Given the description of an element on the screen output the (x, y) to click on. 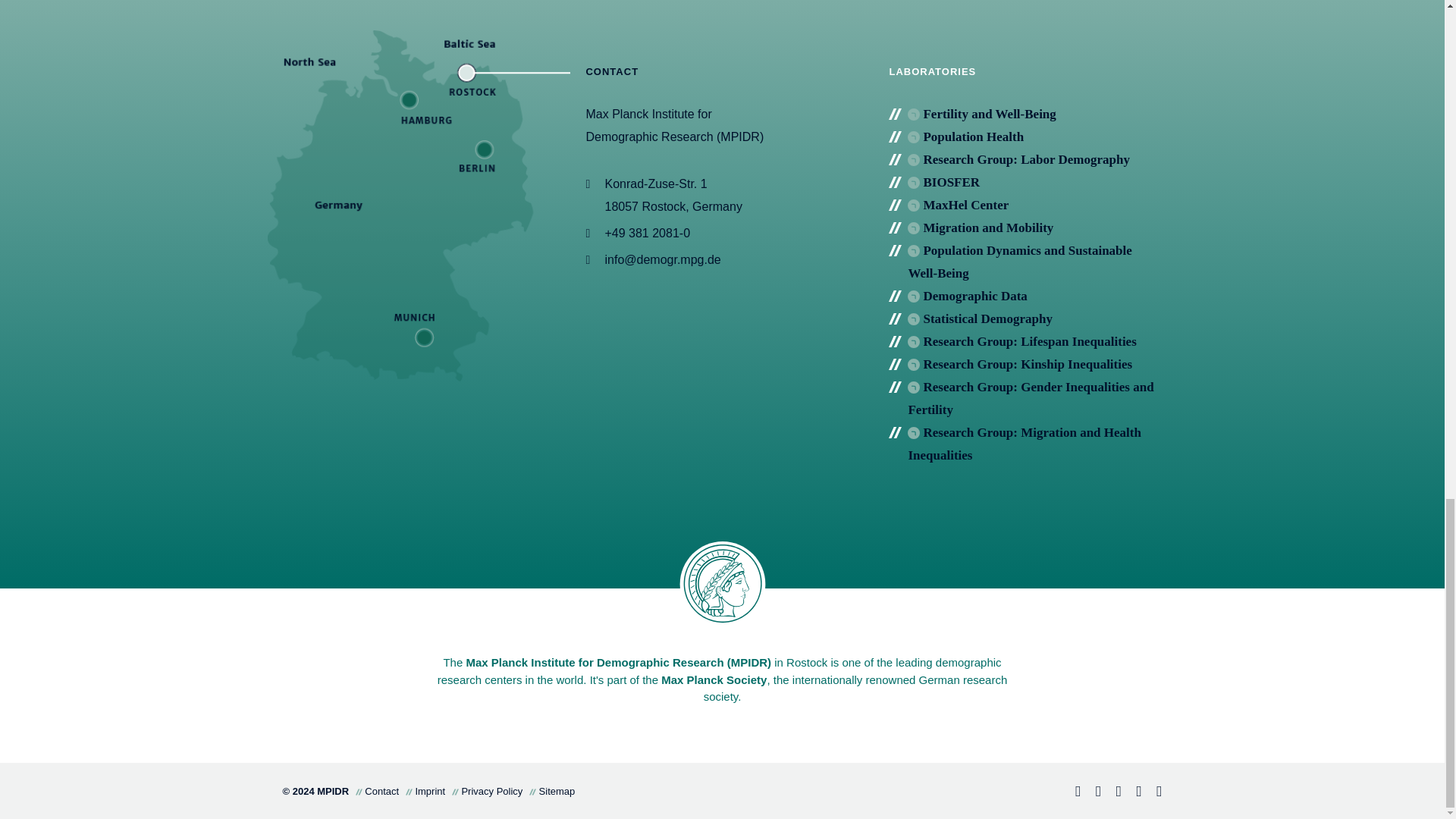
Twitter (1112, 792)
Contact (1132, 792)
LinkedIn (1091, 792)
Facebook (1071, 792)
RSS Feed (1152, 792)
